Given the description of an element on the screen output the (x, y) to click on. 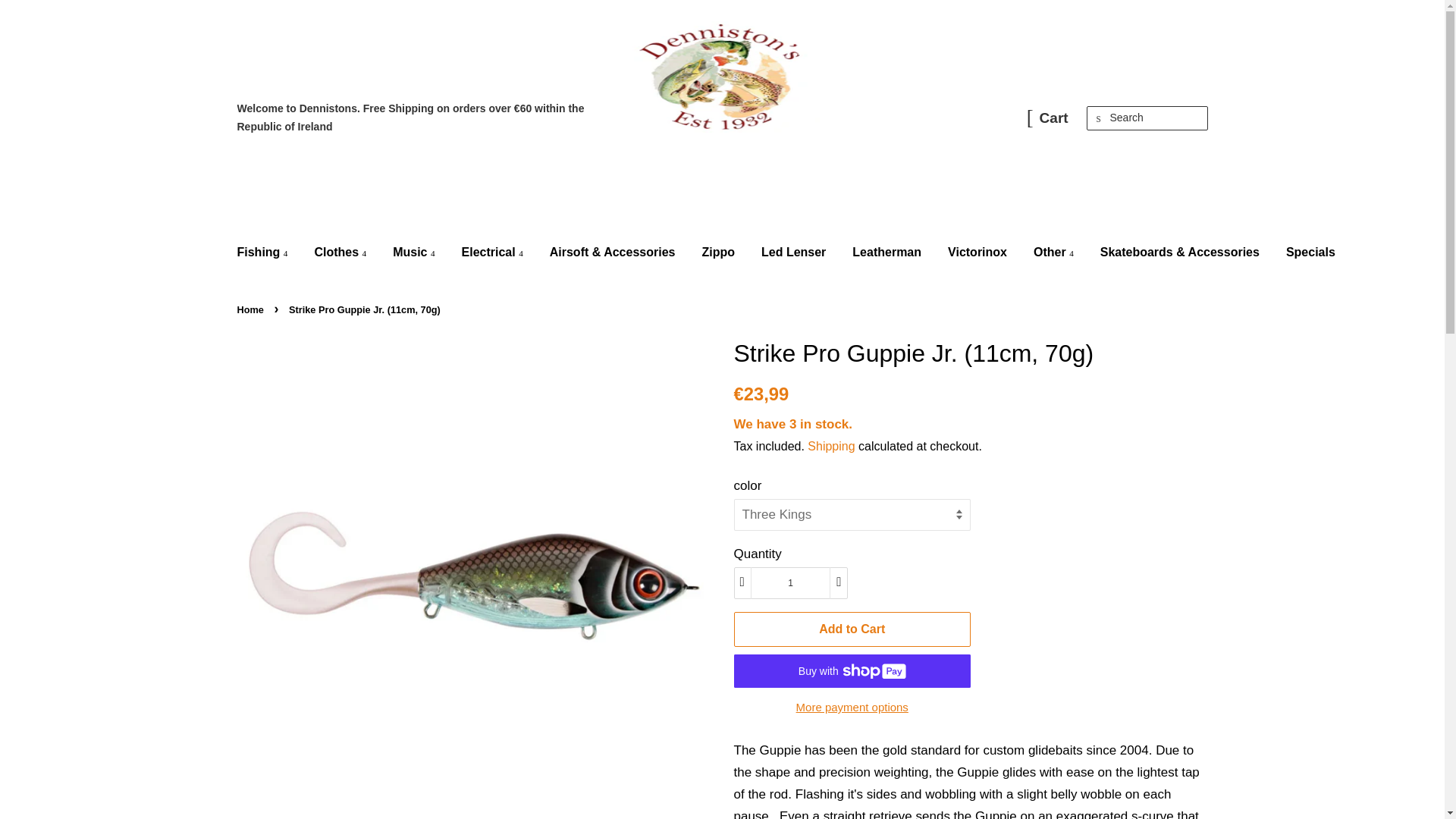
Cart (1053, 118)
Search (1097, 118)
Back to the frontpage (250, 309)
1 (790, 582)
